Given the description of an element on the screen output the (x, y) to click on. 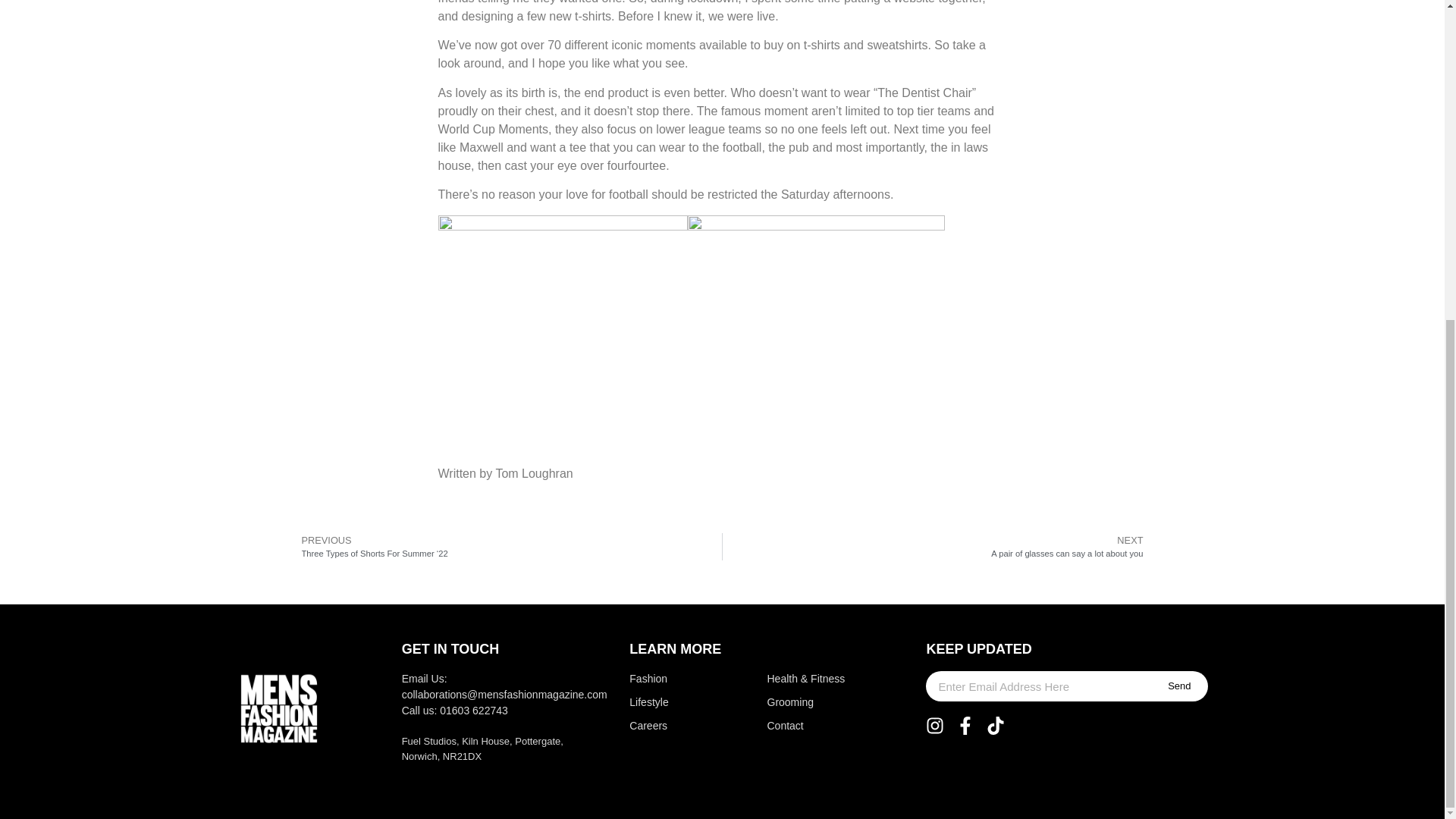
Fashion (667, 678)
Grooming (807, 702)
Send (1179, 685)
Contact (938, 546)
Lifestyle (807, 725)
